Given the description of an element on the screen output the (x, y) to click on. 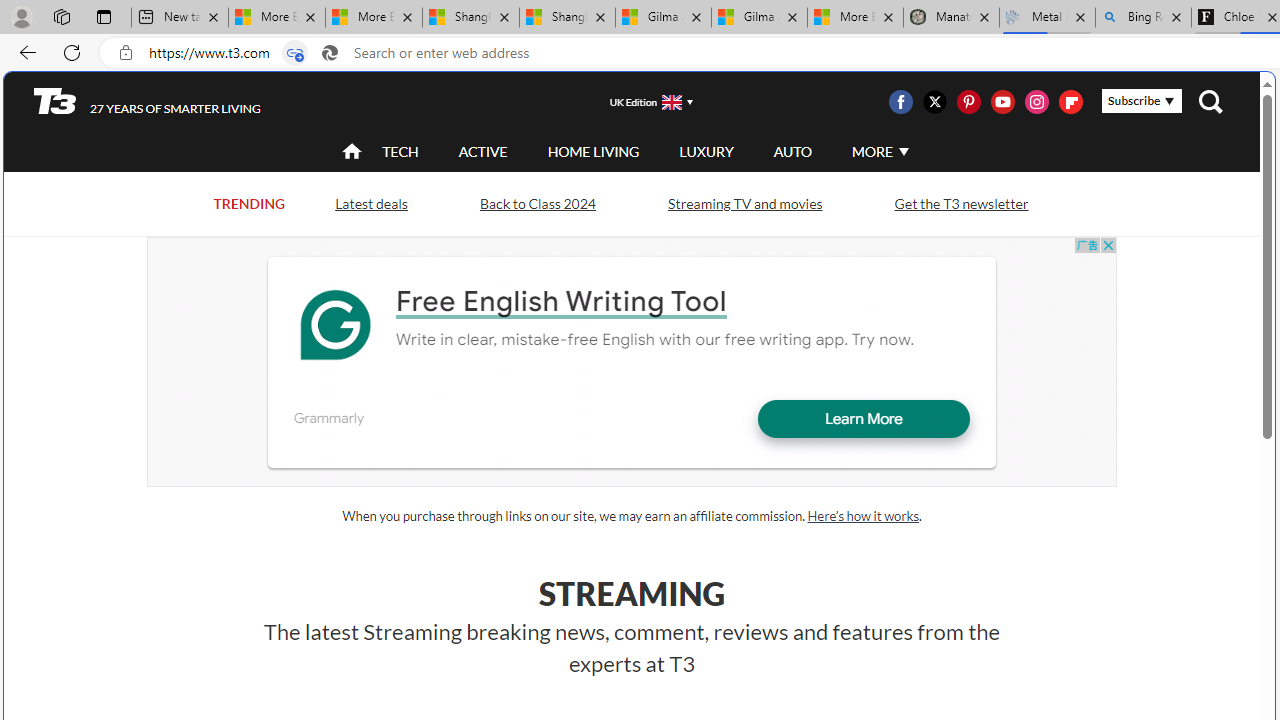
Back (24, 52)
Bing Real Estate - Home sales and rental listings (1143, 17)
View site information (125, 53)
T3 (55, 100)
Close tab (1176, 16)
flag of UK (672, 102)
Visit us on Instagram (1037, 101)
Tab actions menu (104, 16)
Class: svg-arrow-down (903, 151)
Refresh (72, 52)
Class: icon-svg (1070, 101)
Back to Class 2024 (537, 202)
Latest deals (370, 202)
